Given the description of an element on the screen output the (x, y) to click on. 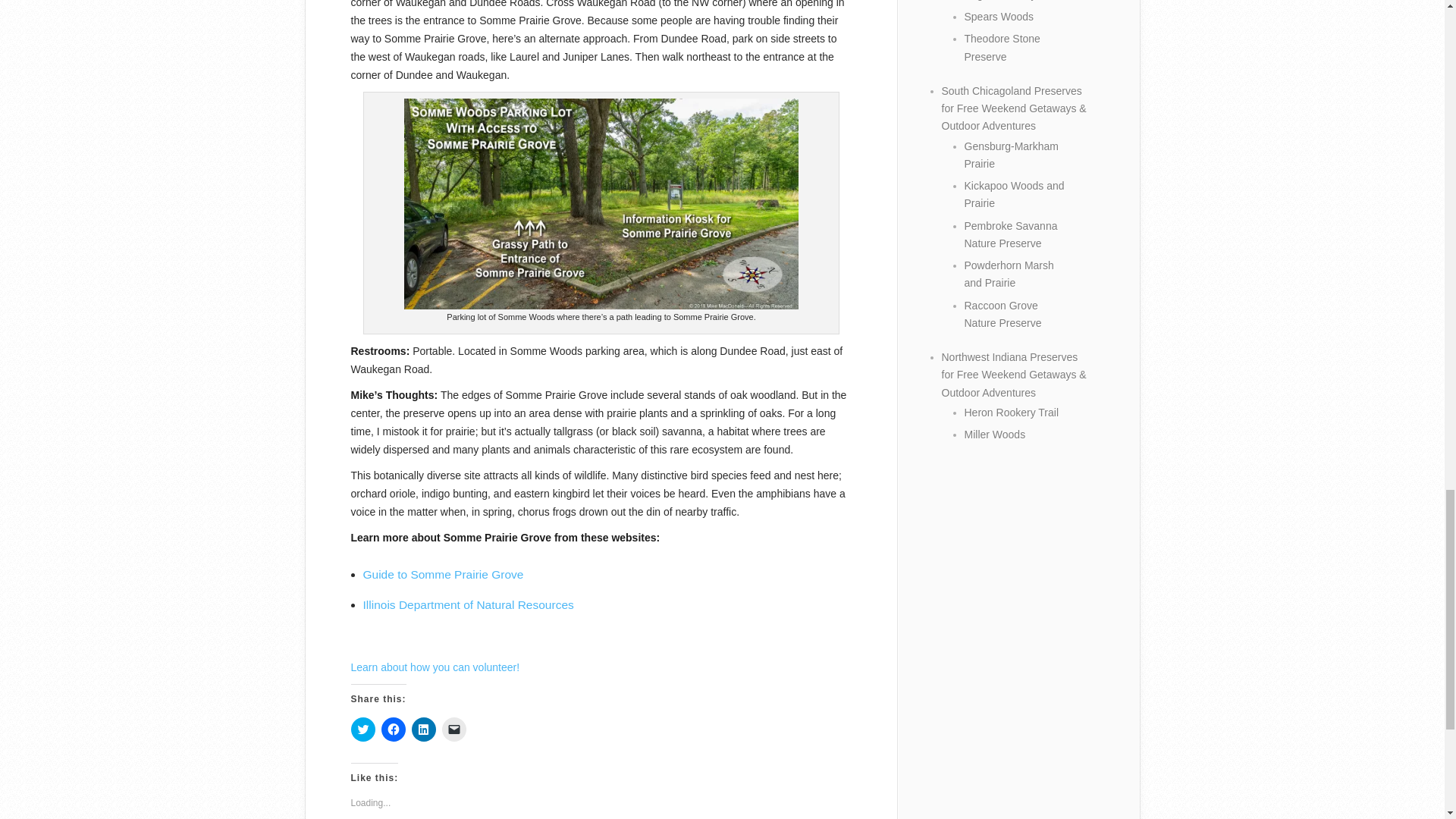
Click to email a link to a friend (453, 729)
Click to share on Facebook (392, 729)
Click to share on Twitter (362, 729)
Click to share on LinkedIn (422, 729)
